Given the description of an element on the screen output the (x, y) to click on. 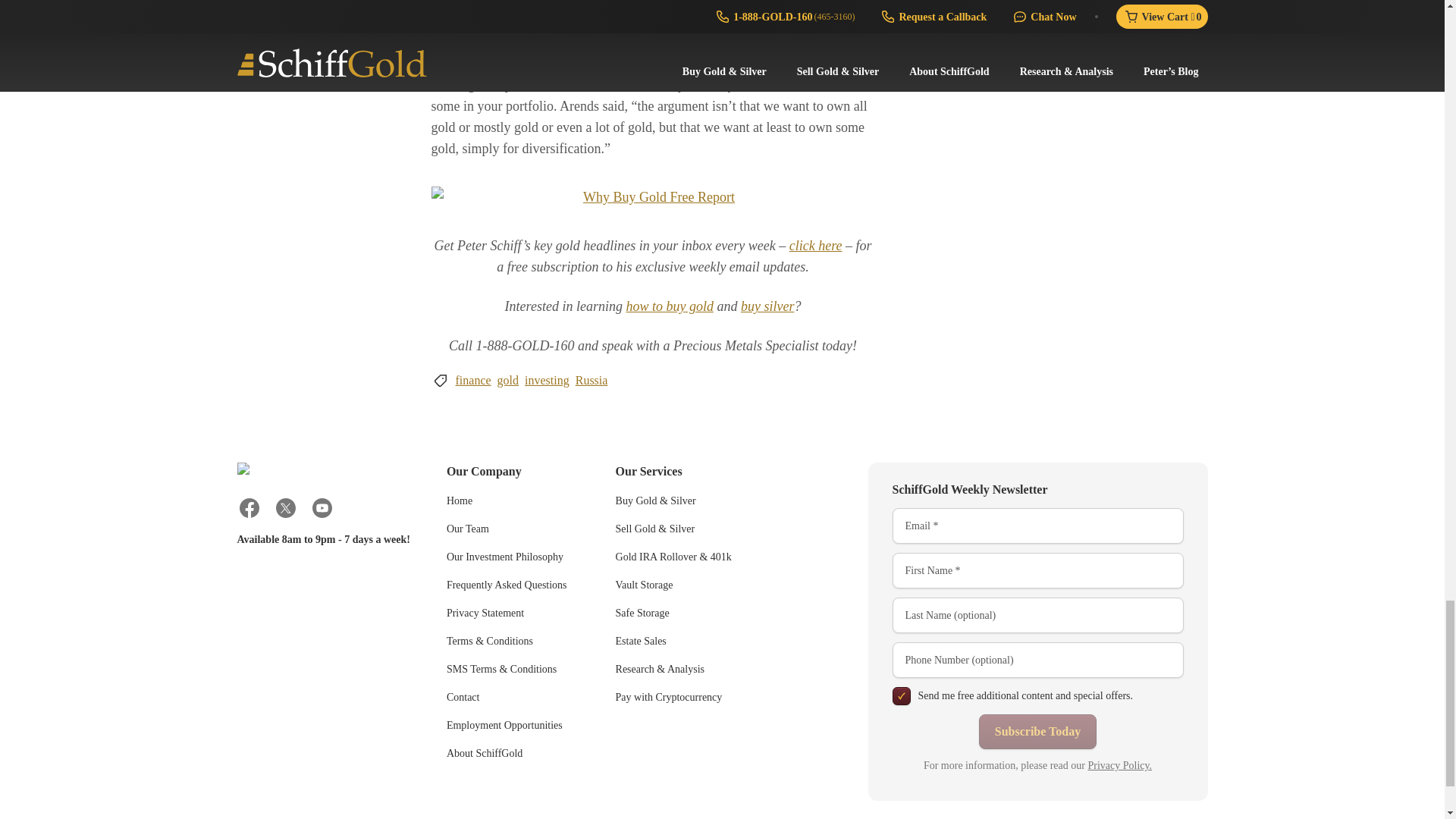
finance (472, 380)
buy silver (767, 305)
click here (816, 245)
how to buy gold (669, 305)
